Given the description of an element on the screen output the (x, y) to click on. 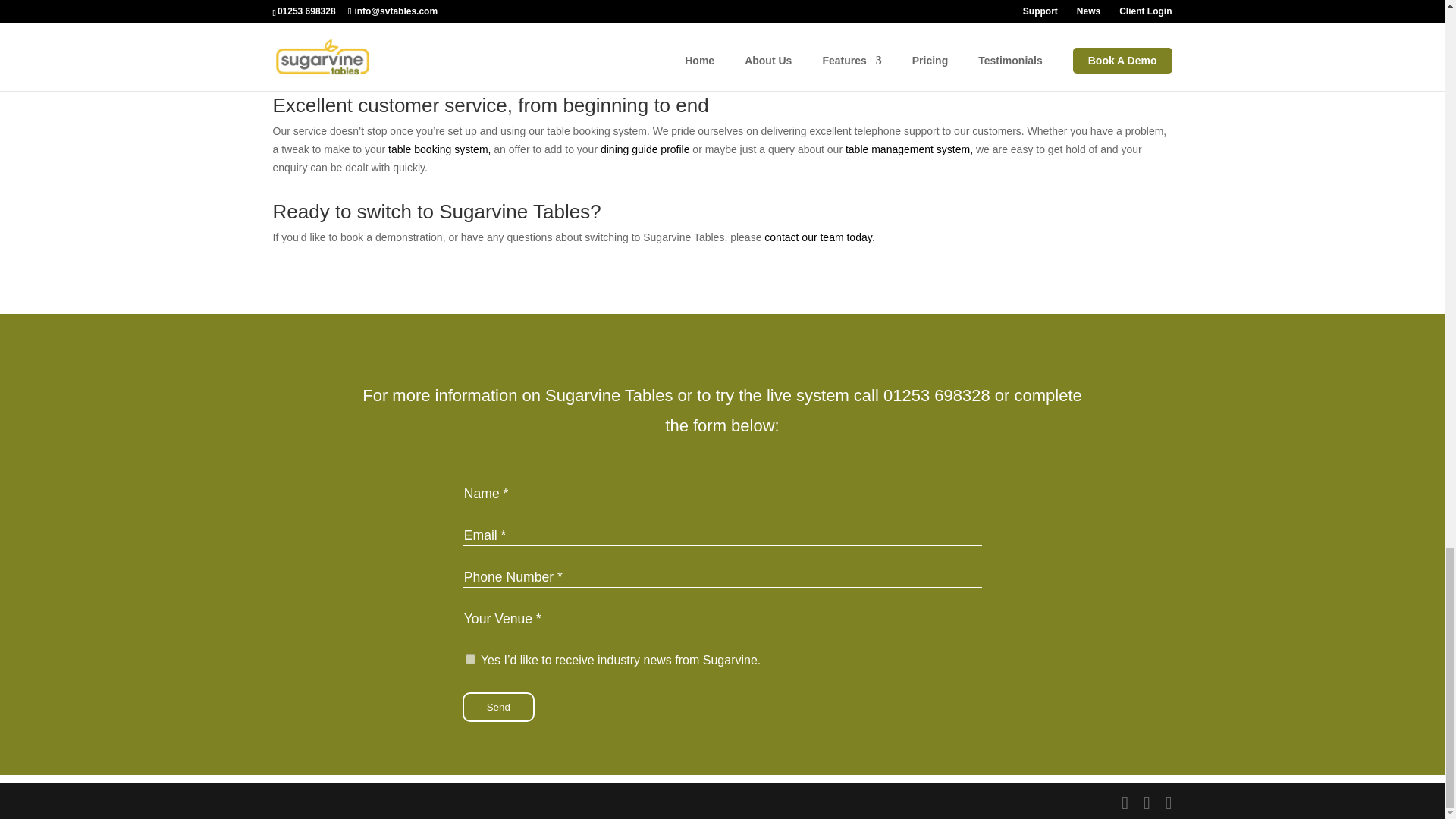
Send (498, 706)
dining guide profile (644, 149)
table management system, (908, 149)
 table booking system,  (439, 149)
01253 698328 (936, 394)
Send (498, 706)
contact our team today (817, 236)
